Given the description of an element on the screen output the (x, y) to click on. 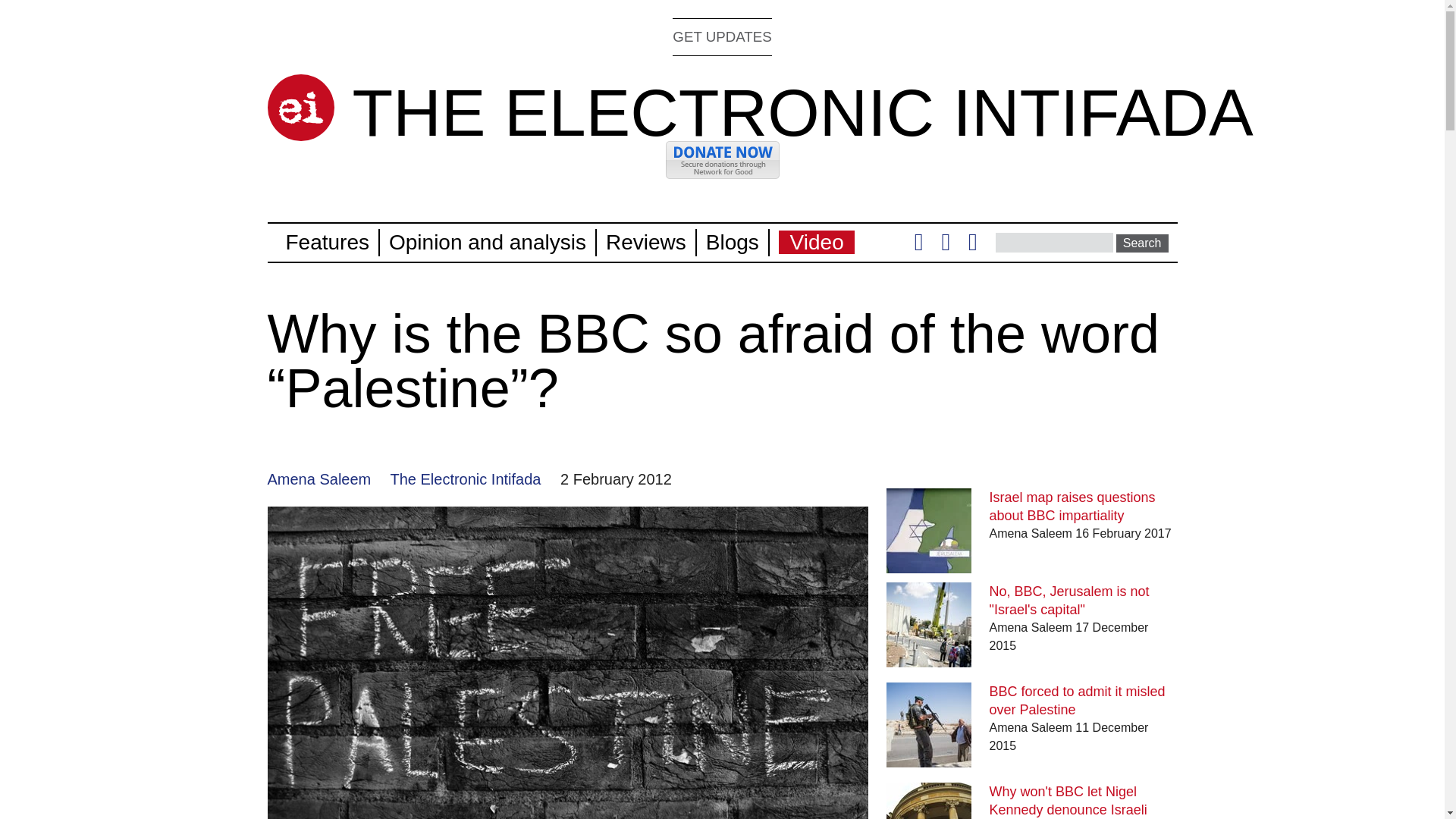
GET UPDATES (721, 37)
Home (802, 112)
Enter the terms you wish to search for. (1054, 242)
Search (1142, 243)
Home (299, 107)
Amena Saleem (318, 478)
THE ELECTRONIC INTIFADA (802, 112)
The Electronic Intifada (465, 478)
